Given the description of an element on the screen output the (x, y) to click on. 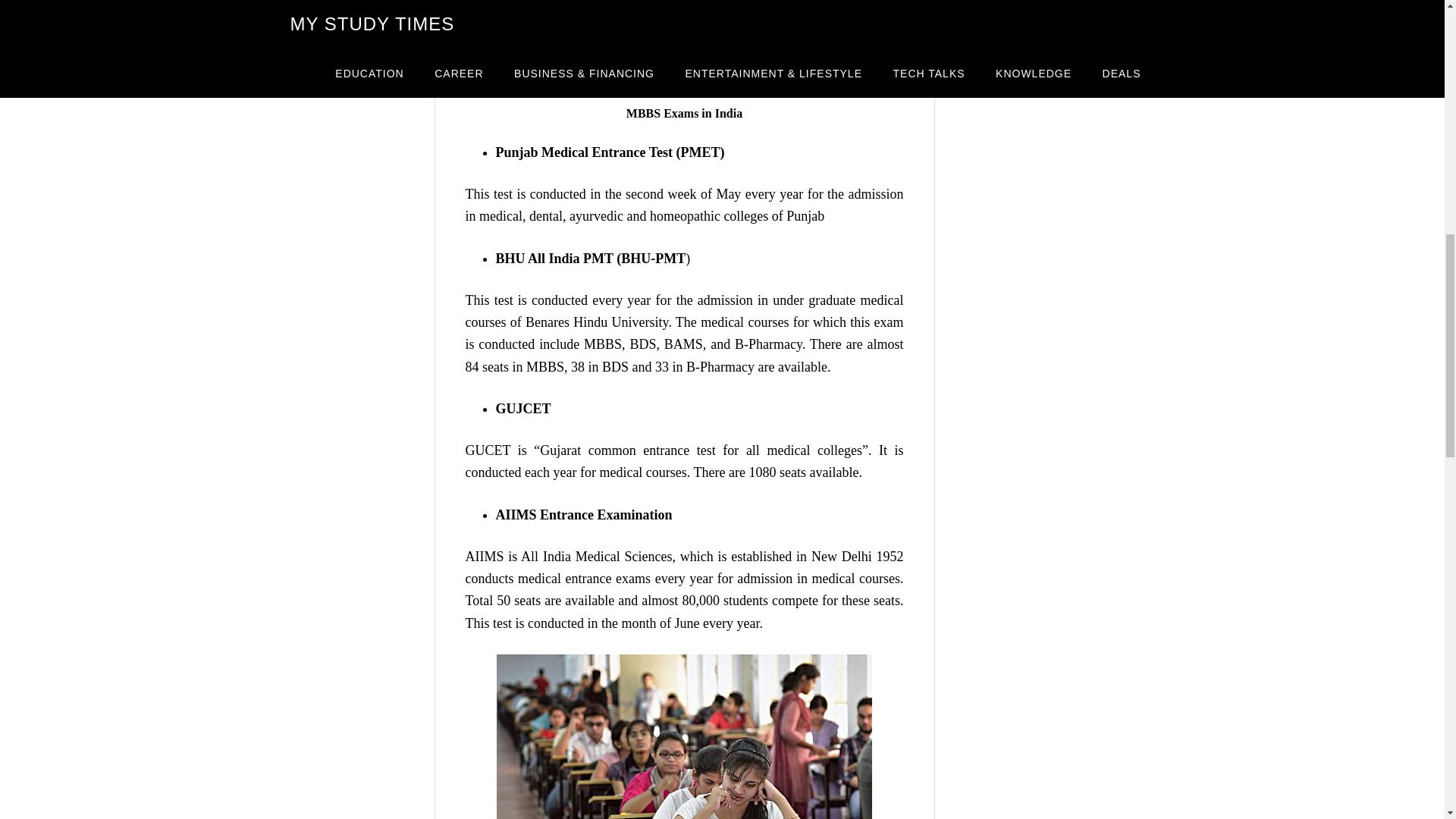
Exams for MBBS in India - Detailed List 1 (684, 48)
Exams for MBBS in India - Detailed List 2 (684, 736)
